Given the description of an element on the screen output the (x, y) to click on. 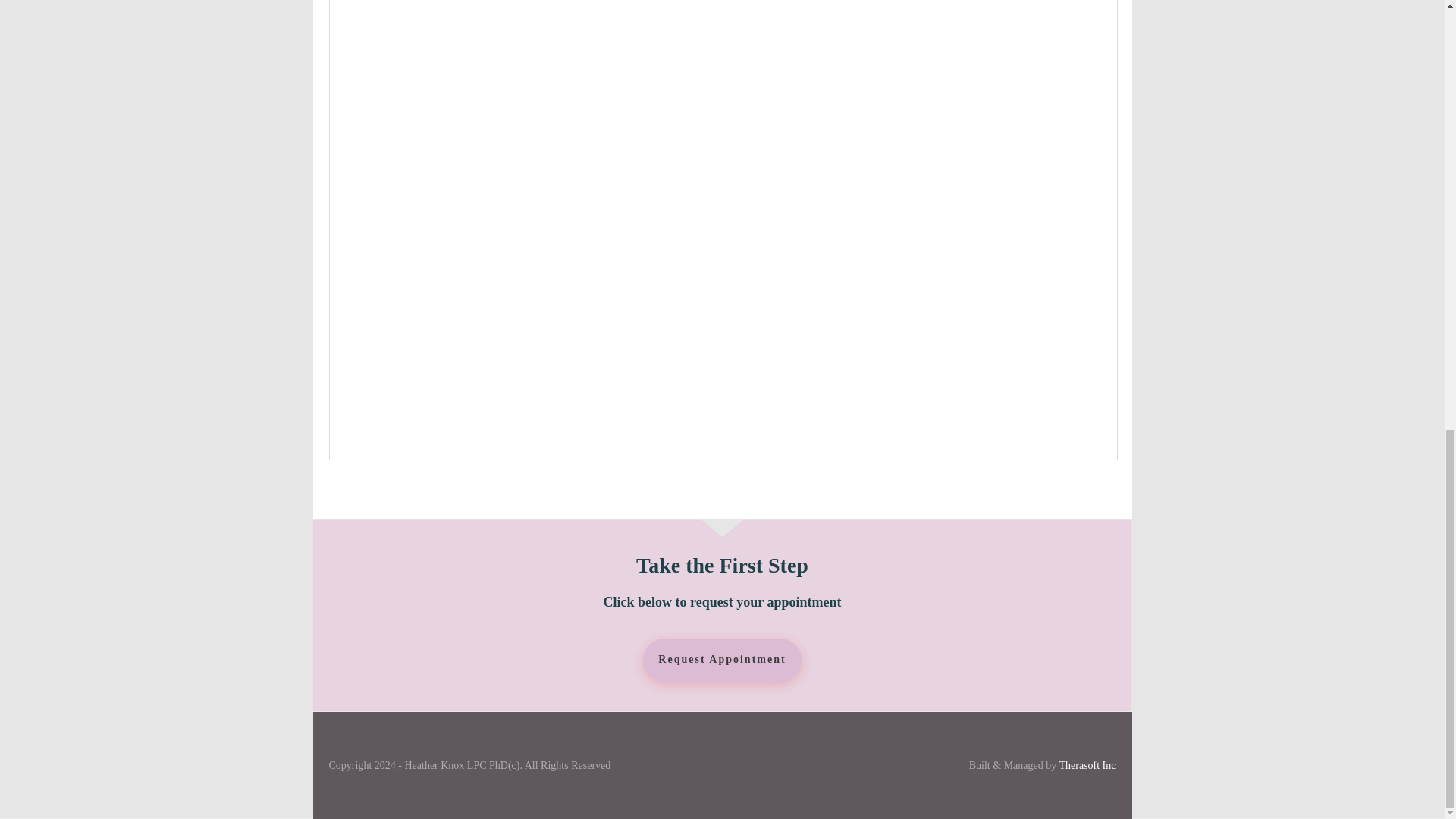
Request Appointment (721, 659)
Therasoft Inc (1086, 765)
